Given the description of an element on the screen output the (x, y) to click on. 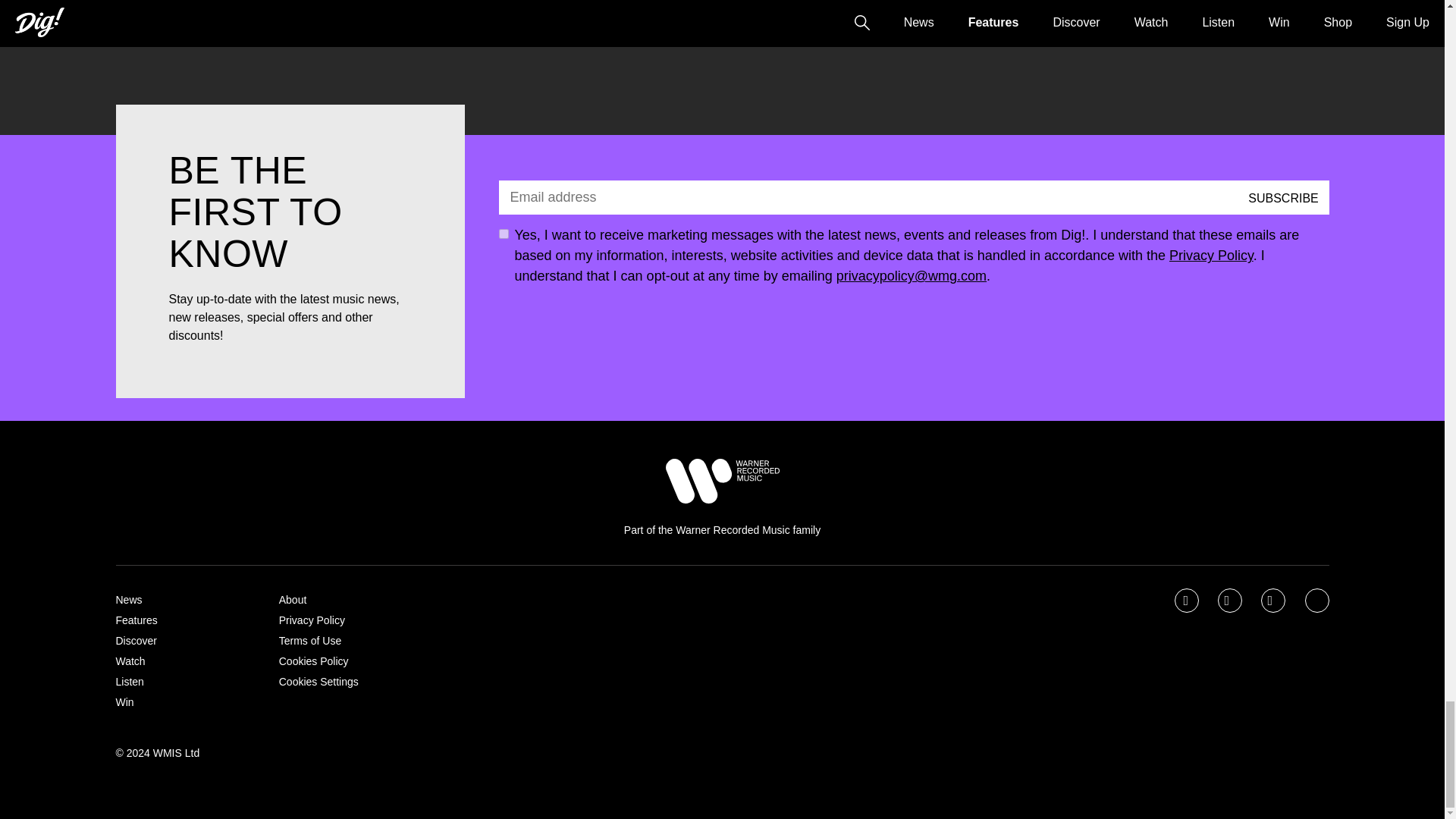
YouTube (1318, 600)
Twitter (1230, 600)
agree (503, 234)
Facebook (1186, 600)
Instagram (1273, 600)
Subscribe (1282, 197)
